Given the description of an element on the screen output the (x, y) to click on. 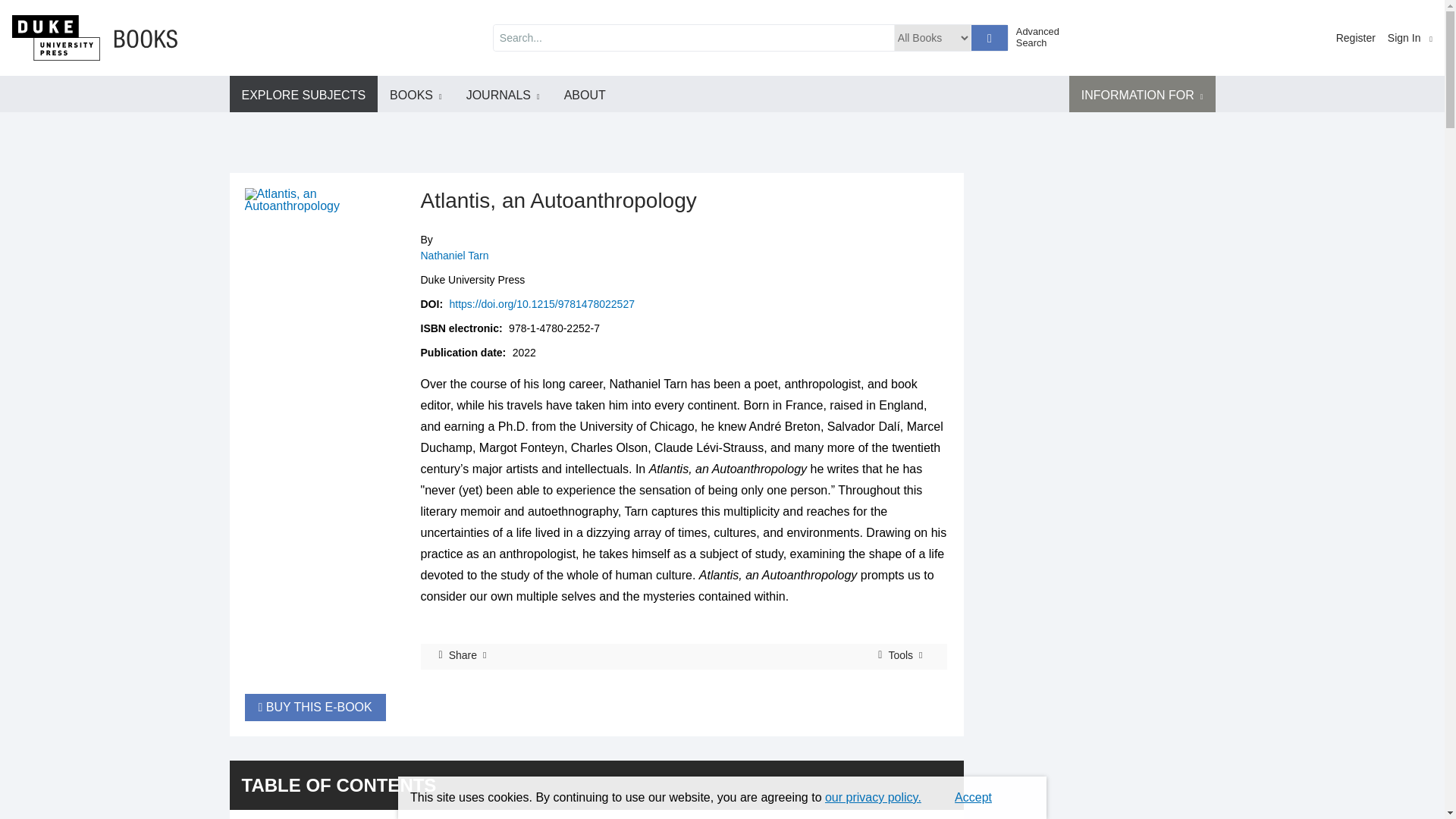
Advanced Search (1043, 37)
search input (693, 37)
Register (1355, 37)
Sign In (1409, 37)
EXPLORE SUBJECTS (302, 94)
JOURNALS (502, 94)
BOOKS (415, 94)
